Given the description of an element on the screen output the (x, y) to click on. 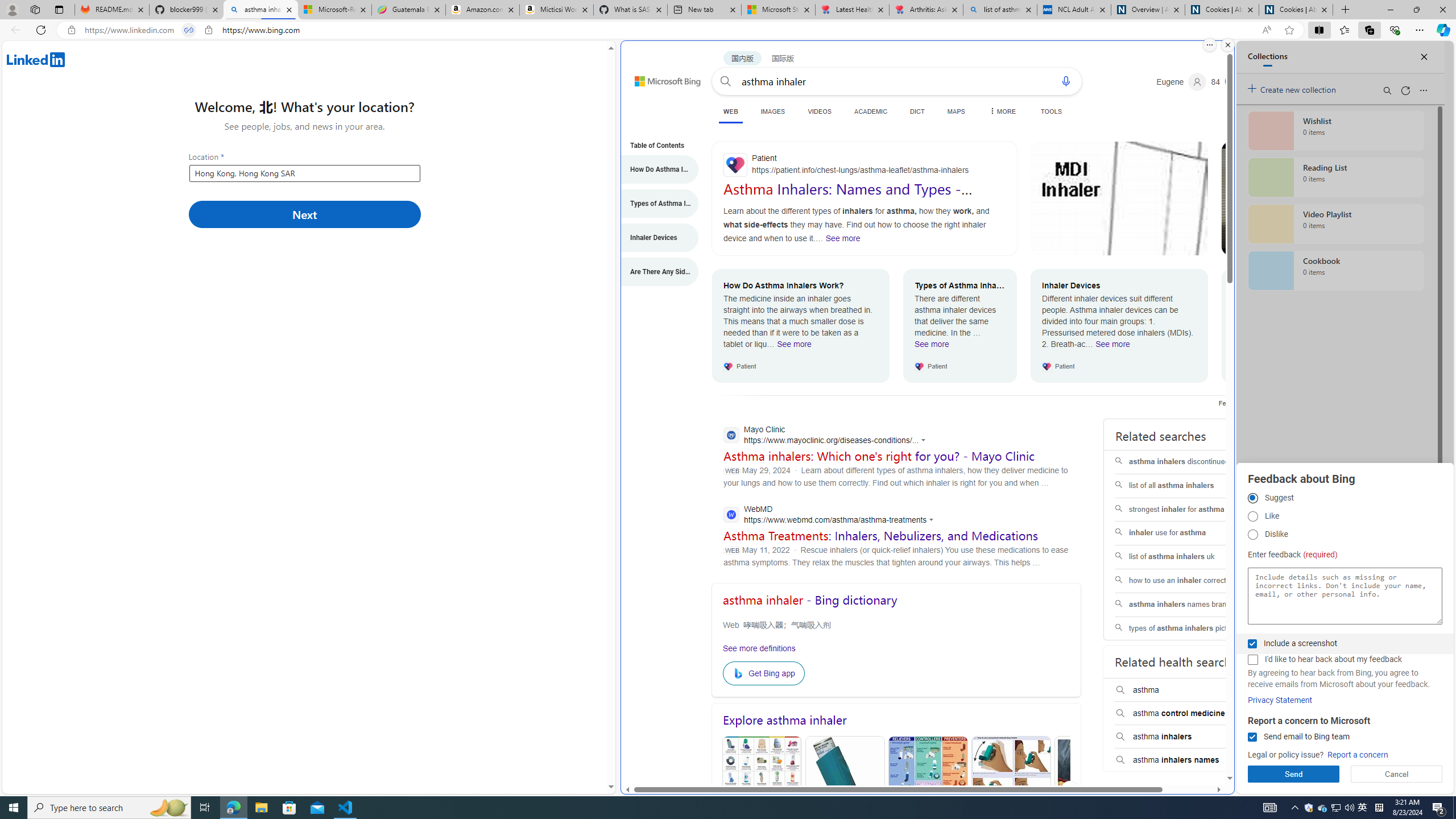
Asthma Inhalers: Names and Types - Patient (847, 196)
how to use an inhaler correctly (1187, 580)
asthma inhalers discontinued (1187, 462)
WebMD (831, 515)
asthma inhalers (1187, 736)
MAPS (955, 111)
asthma control medicine (1187, 713)
AutomationID: rh_meter (1232, 80)
